Given the description of an element on the screen output the (x, y) to click on. 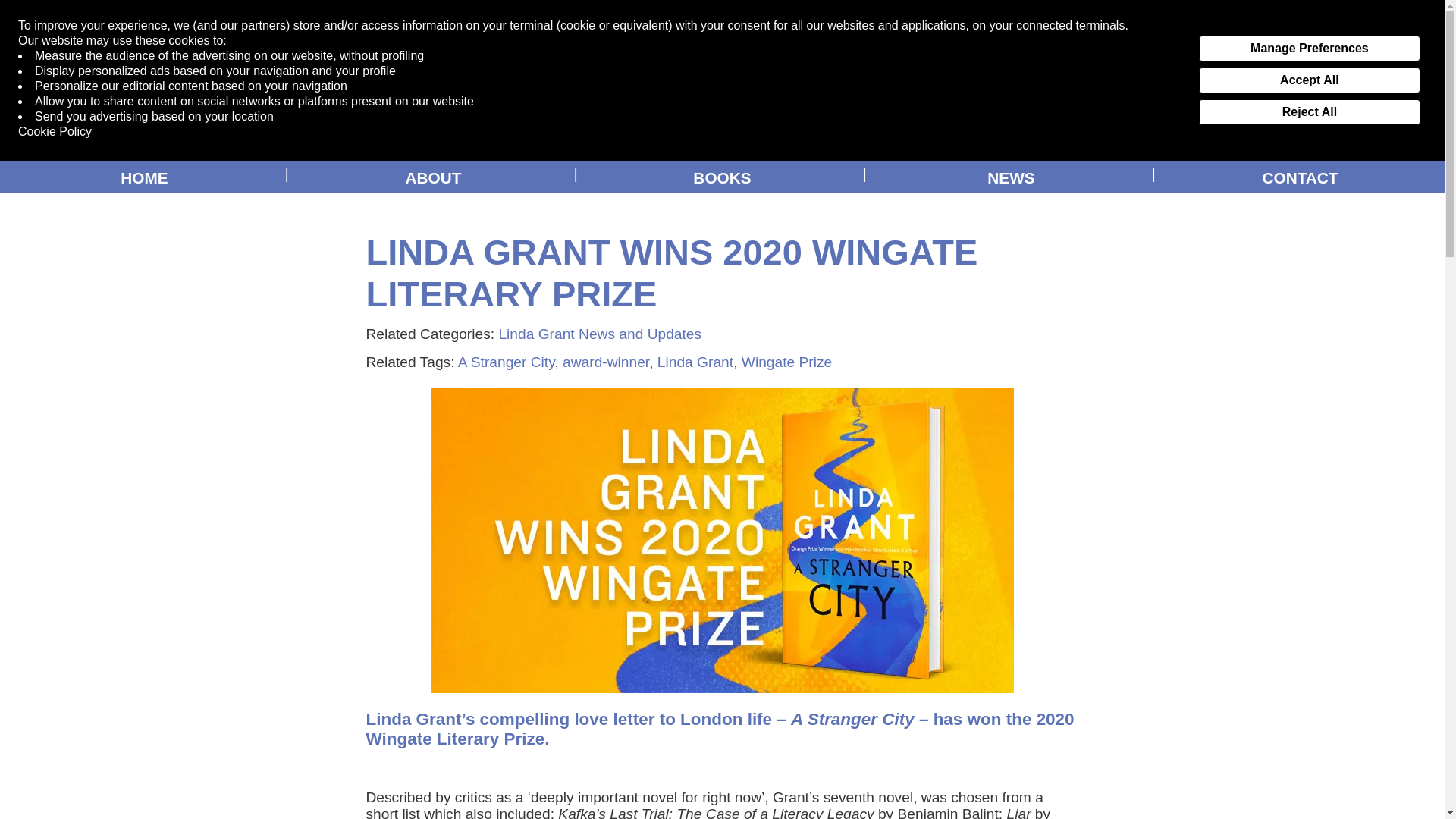
HOME (144, 174)
BOOKS (721, 174)
CONTACT (1299, 174)
Manage Preferences (1309, 48)
Linda Grant News and Updates (599, 333)
Accept All (1309, 80)
A Stranger City (506, 361)
Cookie Policy (54, 131)
ABOUT (432, 174)
NEWS (1010, 174)
